Given the description of an element on the screen output the (x, y) to click on. 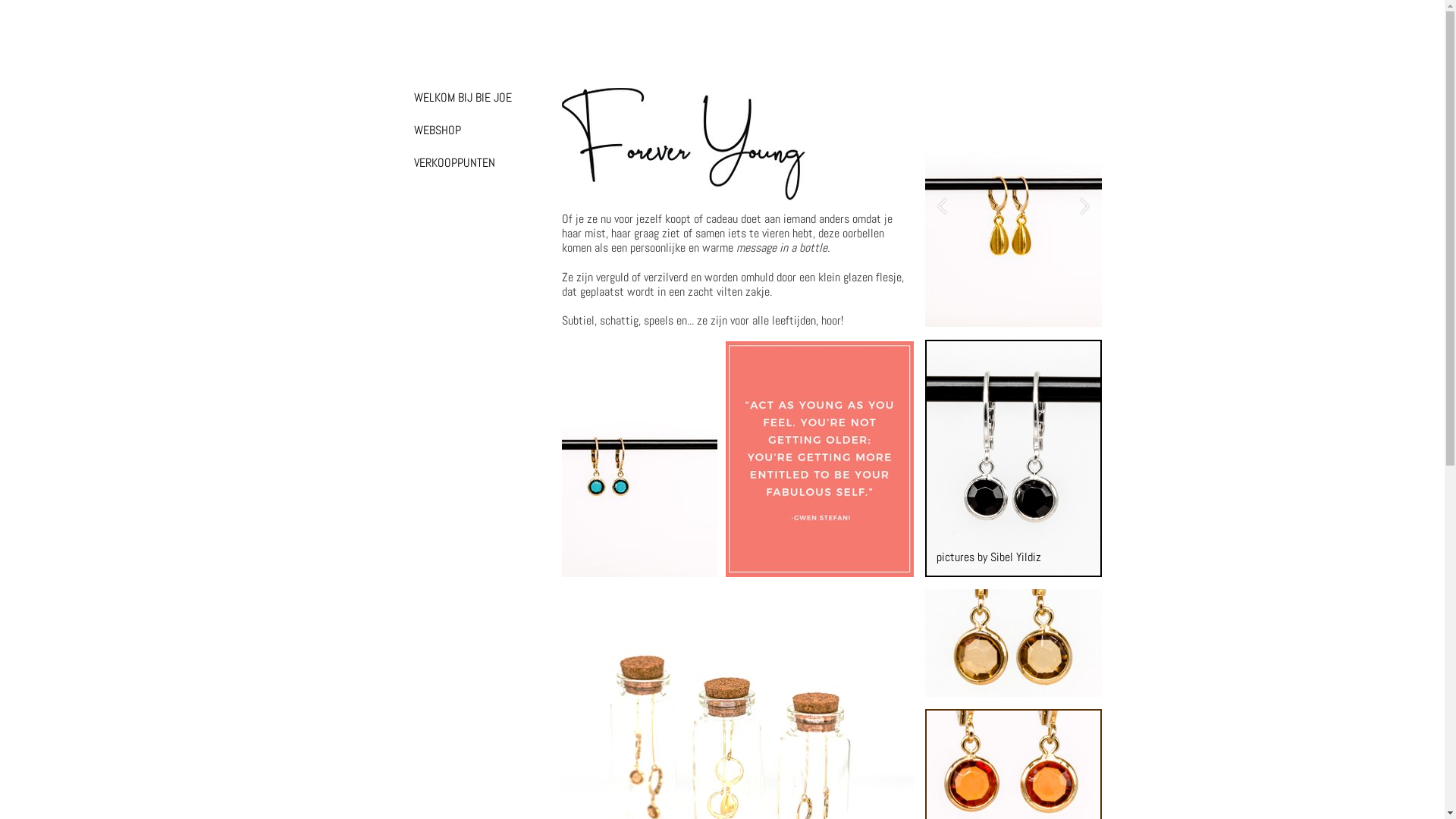
VERKOOPPUNTEN Element type: text (462, 162)
foreveryoung3 Element type: hover (1013, 206)
WELKOM BIJ BIE JOE Element type: text (462, 97)
  Element type: text (1013, 347)
WEBSHOP Element type: text (462, 129)
